Given the description of an element on the screen output the (x, y) to click on. 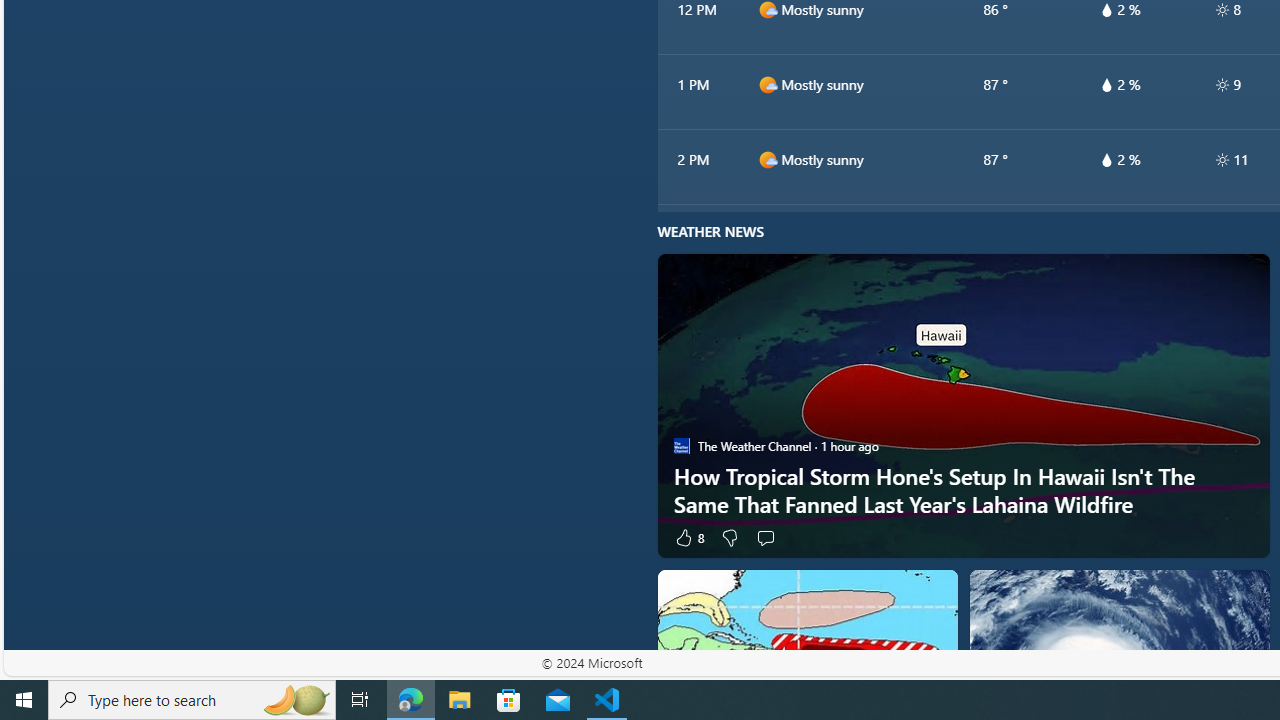
Start the conversation (765, 537)
8 Like (688, 537)
hourlyTable/drop (1106, 159)
The Weather Channel (681, 445)
d1000 (767, 159)
hourlyTable/uv (1222, 159)
Start the conversation (765, 537)
Dislike (728, 537)
